Given the description of an element on the screen output the (x, y) to click on. 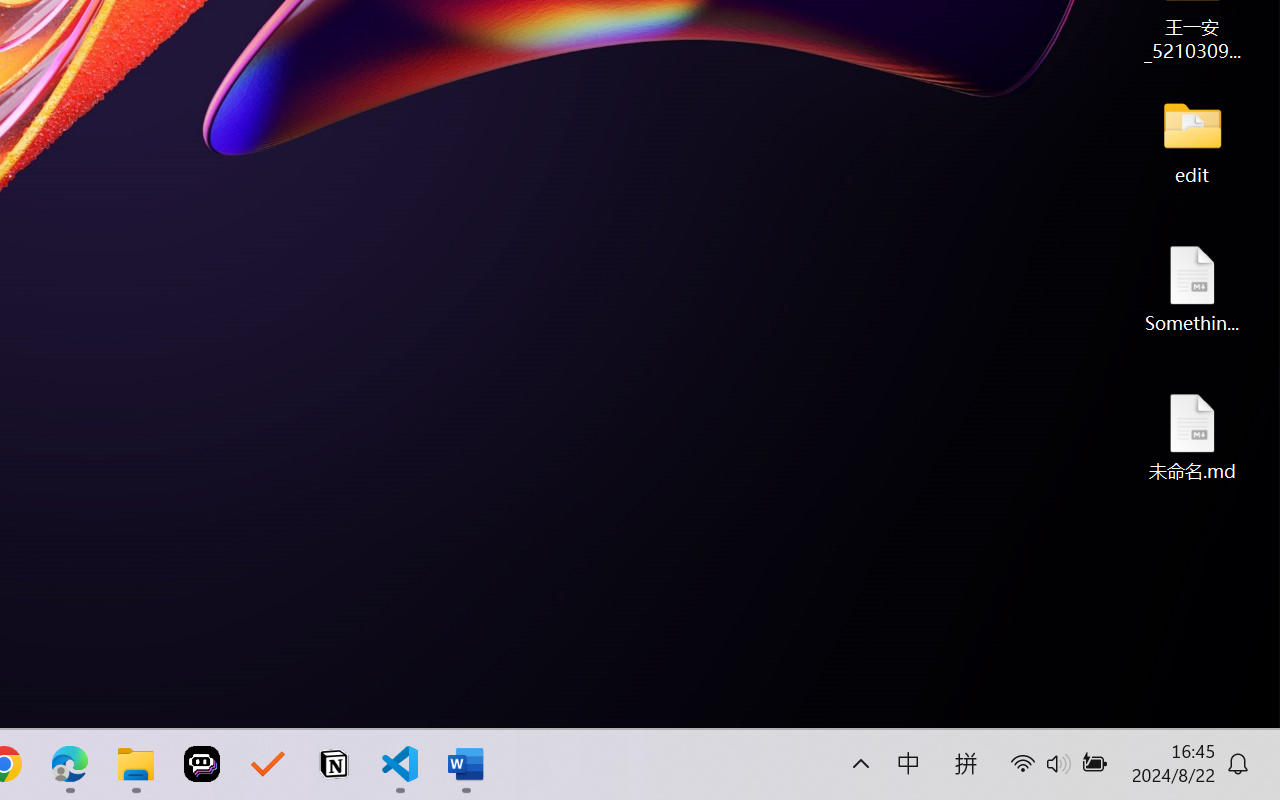
edit (1192, 140)
Something.md (1192, 288)
